Given the description of an element on the screen output the (x, y) to click on. 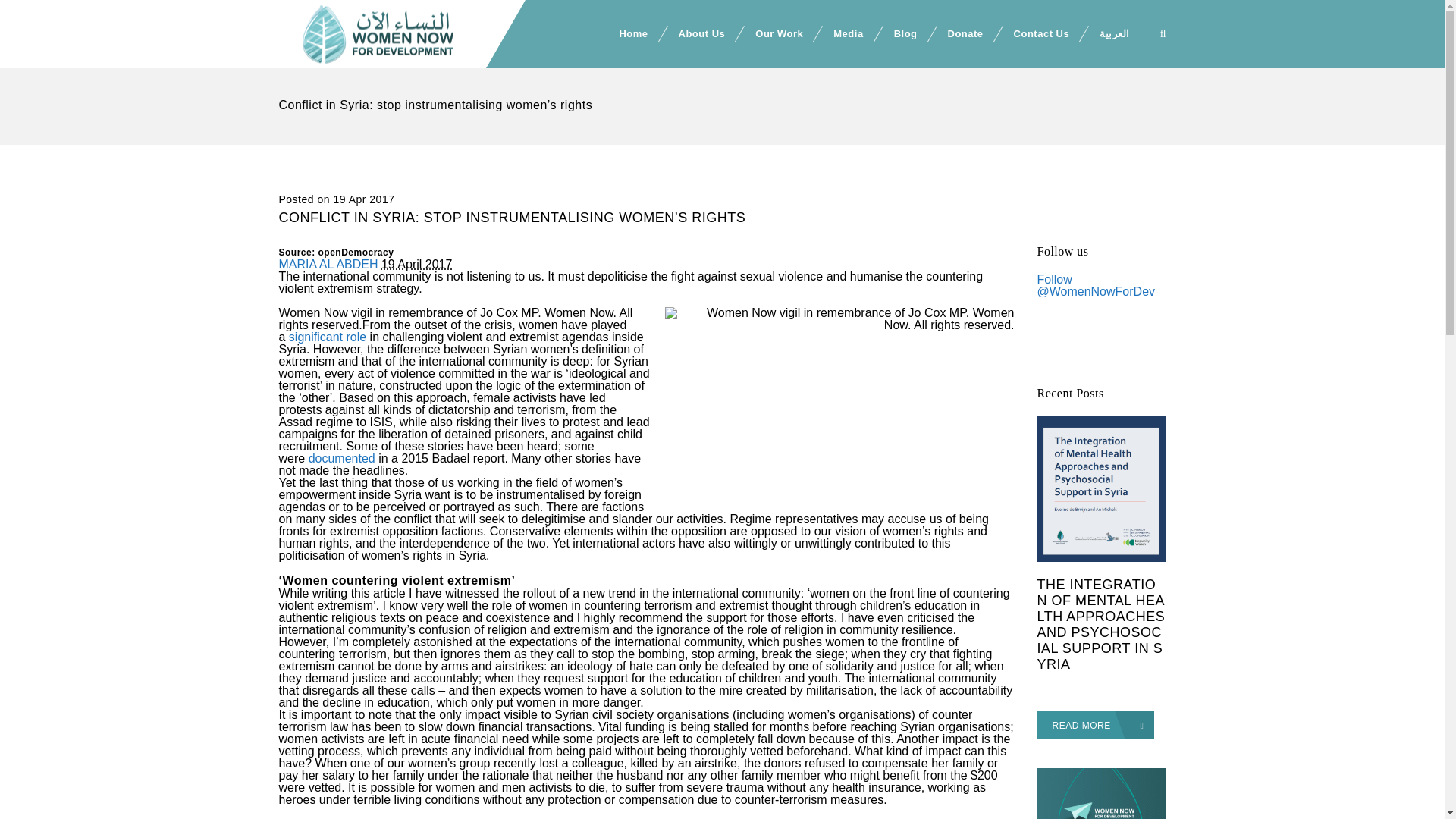
Our Work (778, 33)
MARIA AL ABDEH (328, 264)
About Us (700, 33)
openDemocracy (356, 252)
Women Now for Development (387, 33)
Women Now for Development (387, 33)
significant role (327, 336)
Contact Us (1041, 33)
Donate (965, 33)
